Given the description of an element on the screen output the (x, y) to click on. 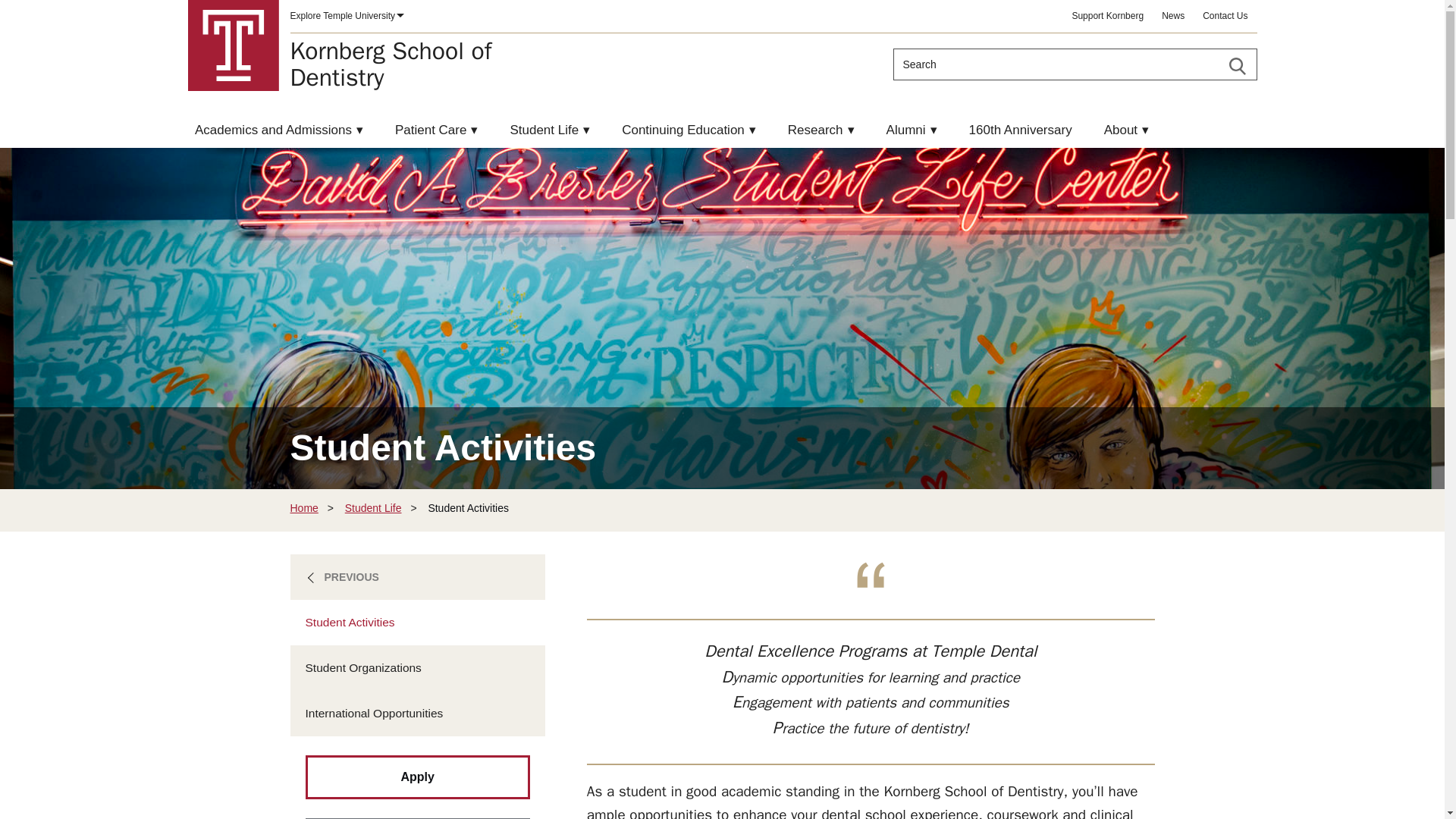
Support Kornberg (1107, 16)
News (1173, 16)
Contact Us (390, 64)
Explore Temple University (1224, 16)
Search (346, 16)
Link to homepage (1236, 66)
Link to the Kornberg School of Dentistry homepage (233, 45)
Search (390, 64)
